Given the description of an element on the screen output the (x, y) to click on. 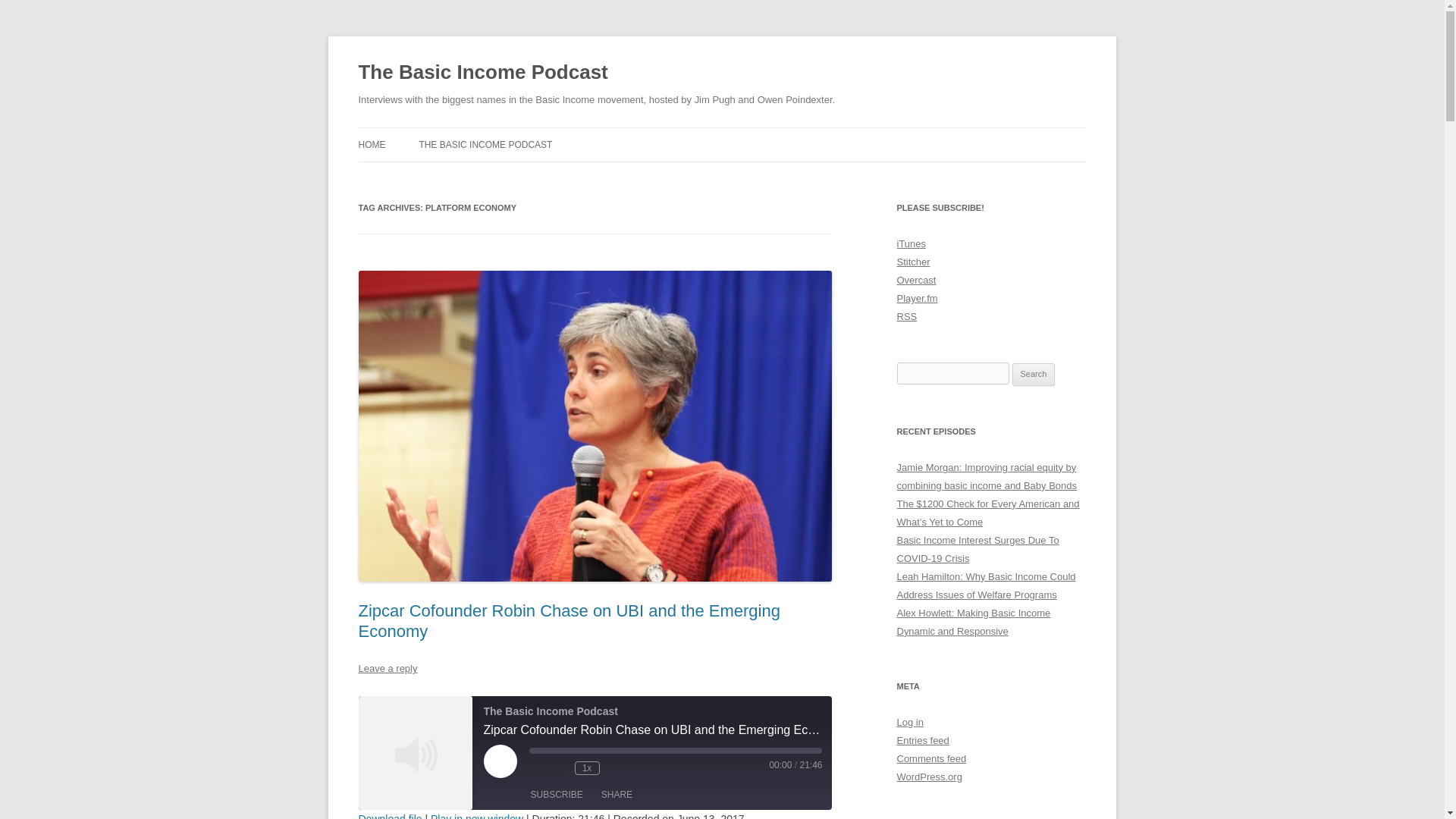
The Basic Income Podcast (482, 72)
Download file (390, 816)
Play (499, 761)
Playback Speed (587, 767)
Overcast (916, 279)
The Basic Income Podcast (414, 752)
Play in new window (476, 816)
Share (617, 794)
iTunes (911, 243)
Play Episode (499, 761)
Zipcar Cofounder Robin Chase on UBI and the Emerging Economy (568, 620)
Subscribe (556, 794)
Search (1033, 374)
Leave a reply (387, 668)
Seek (675, 750)
